Given the description of an element on the screen output the (x, y) to click on. 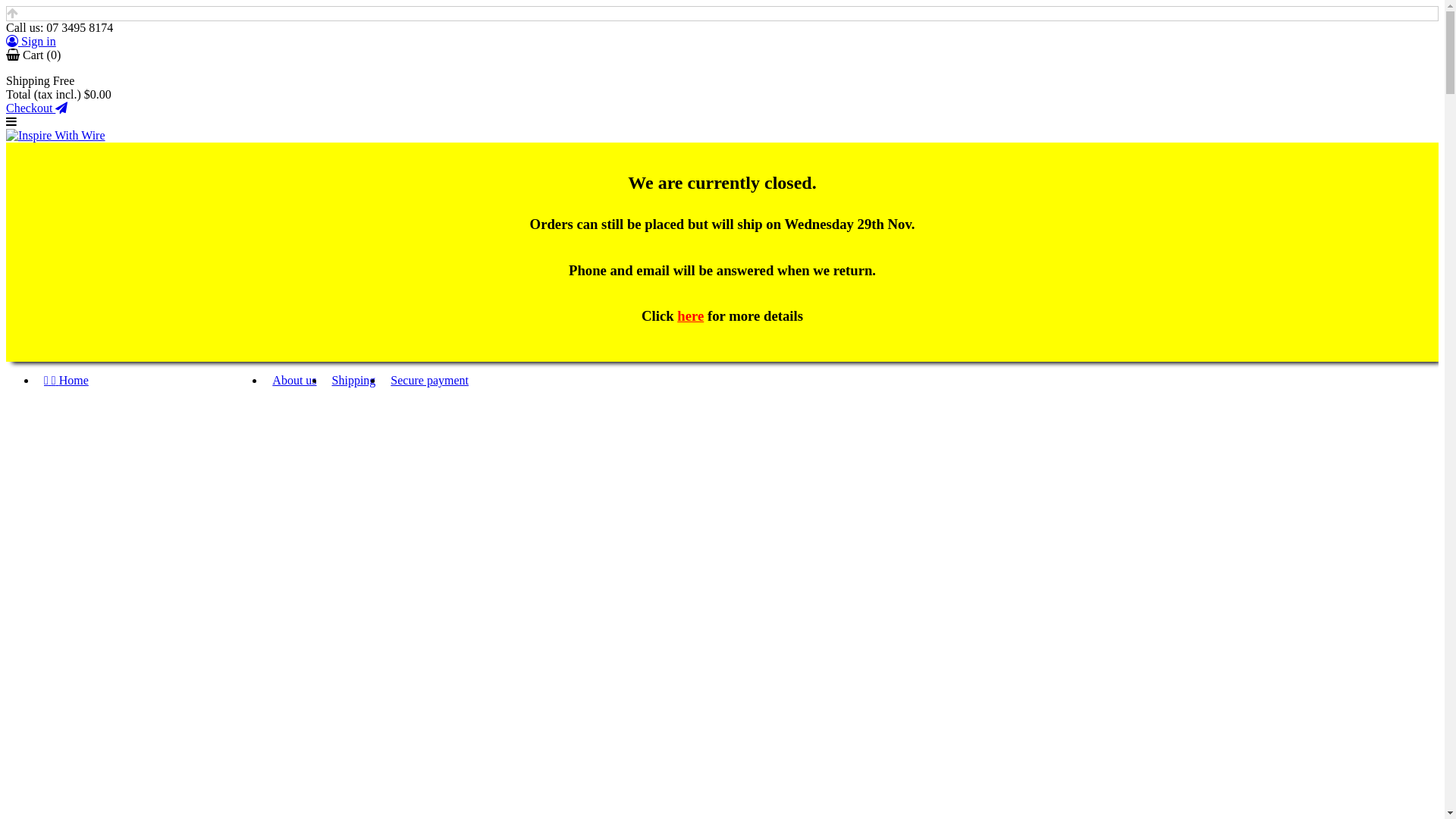
Checkout Element type: text (36, 107)
Sign in Element type: text (31, 40)
Shipping Element type: text (353, 379)
here Element type: text (690, 315)
About us Element type: text (293, 379)
Secure payment Element type: text (429, 379)
